Given the description of an element on the screen output the (x, y) to click on. 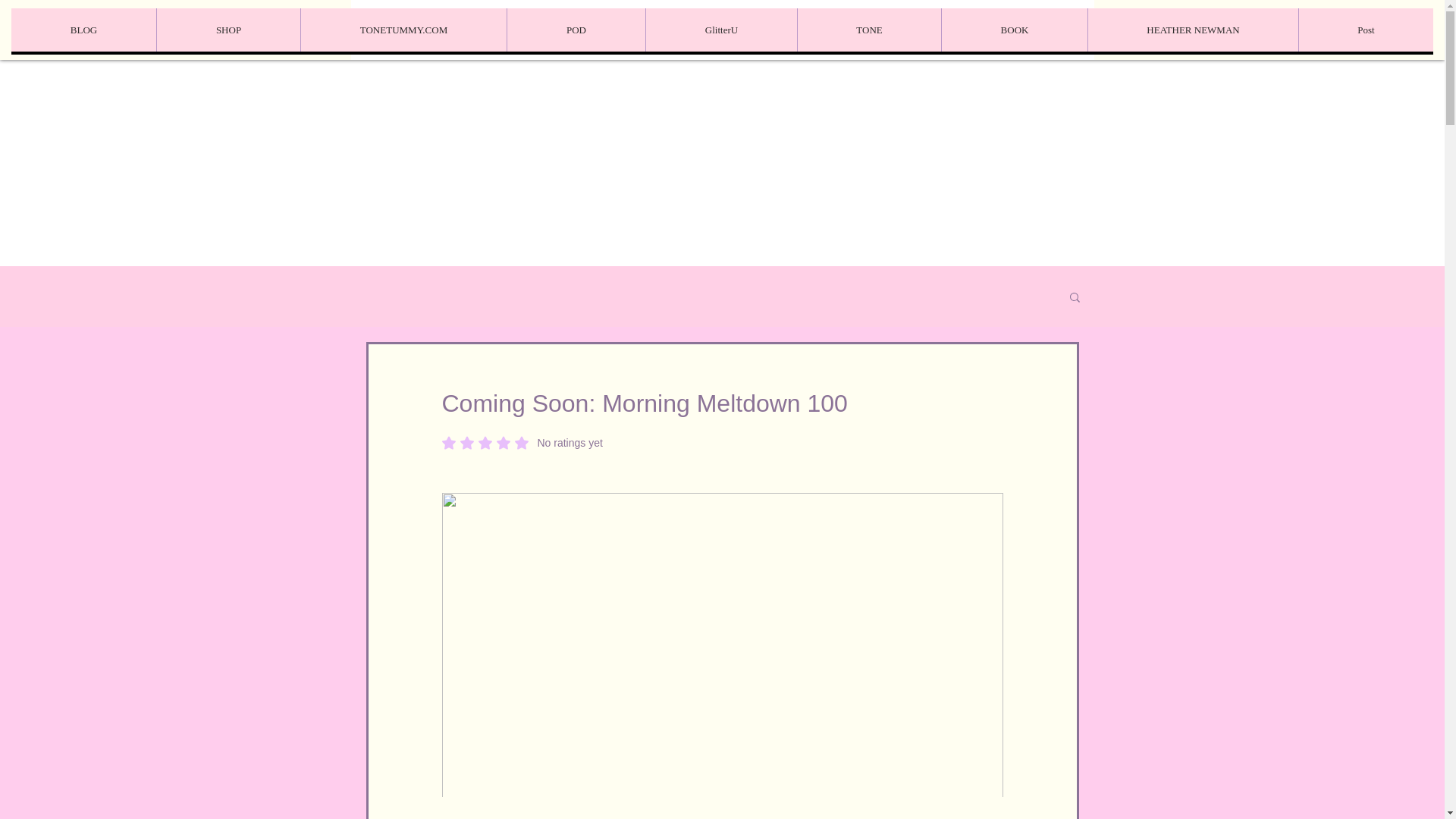
HEATHER NEWMAN (1192, 29)
SHOP (227, 29)
BOOK (1013, 29)
Post (1365, 29)
TONETUMMY.COM (402, 29)
POD (575, 29)
TONE (868, 29)
BLOG (83, 29)
GlitterU (720, 29)
